Given the description of an element on the screen output the (x, y) to click on. 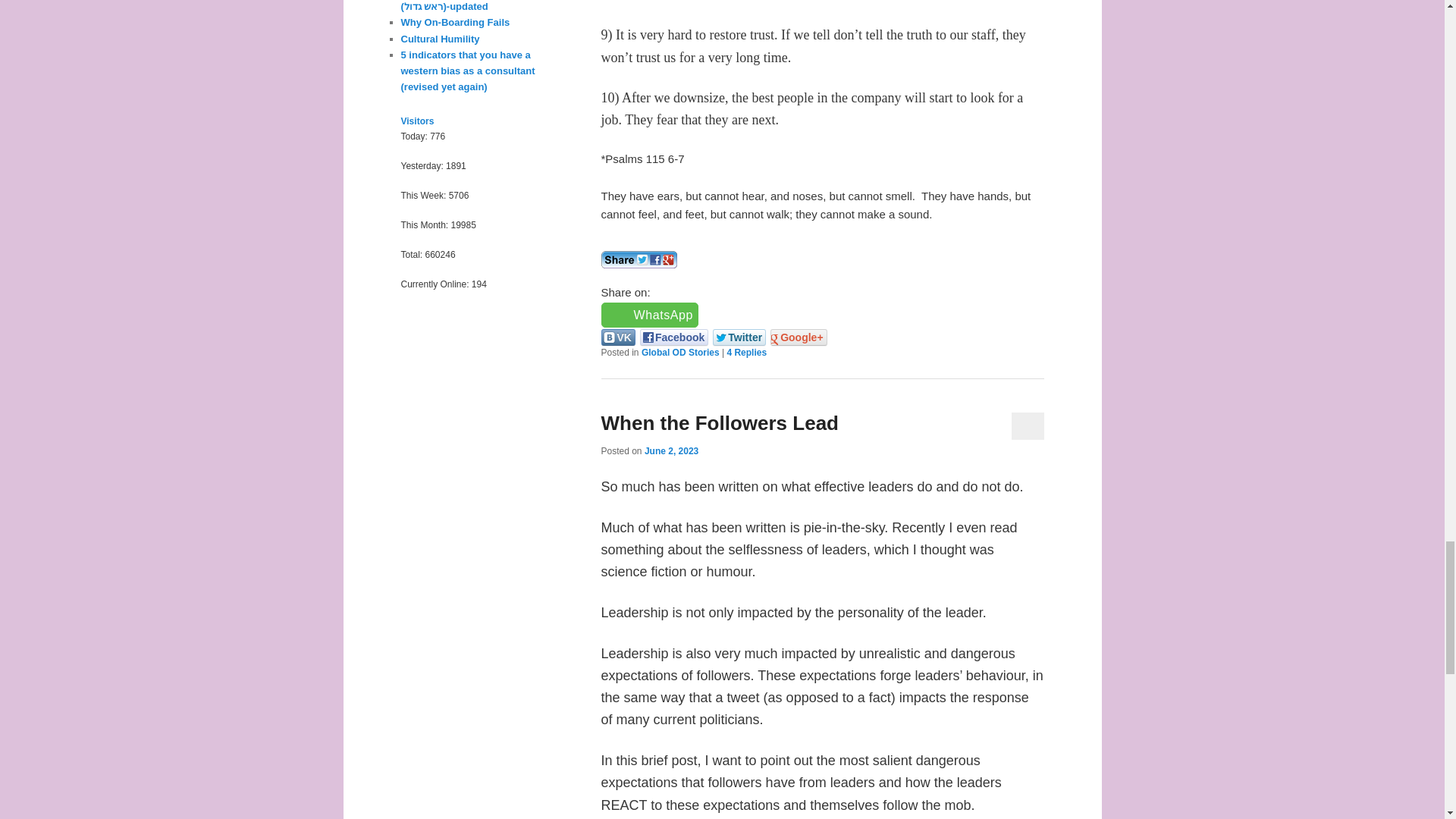
Share link on Facebook (673, 337)
Share link on Twitter (739, 337)
WhatsApp (648, 314)
Global OD Stories (680, 352)
When the Followers Lead (718, 422)
June 2, 2023 (671, 450)
Share link on VK (616, 337)
4 Replies (746, 352)
